Given the description of an element on the screen output the (x, y) to click on. 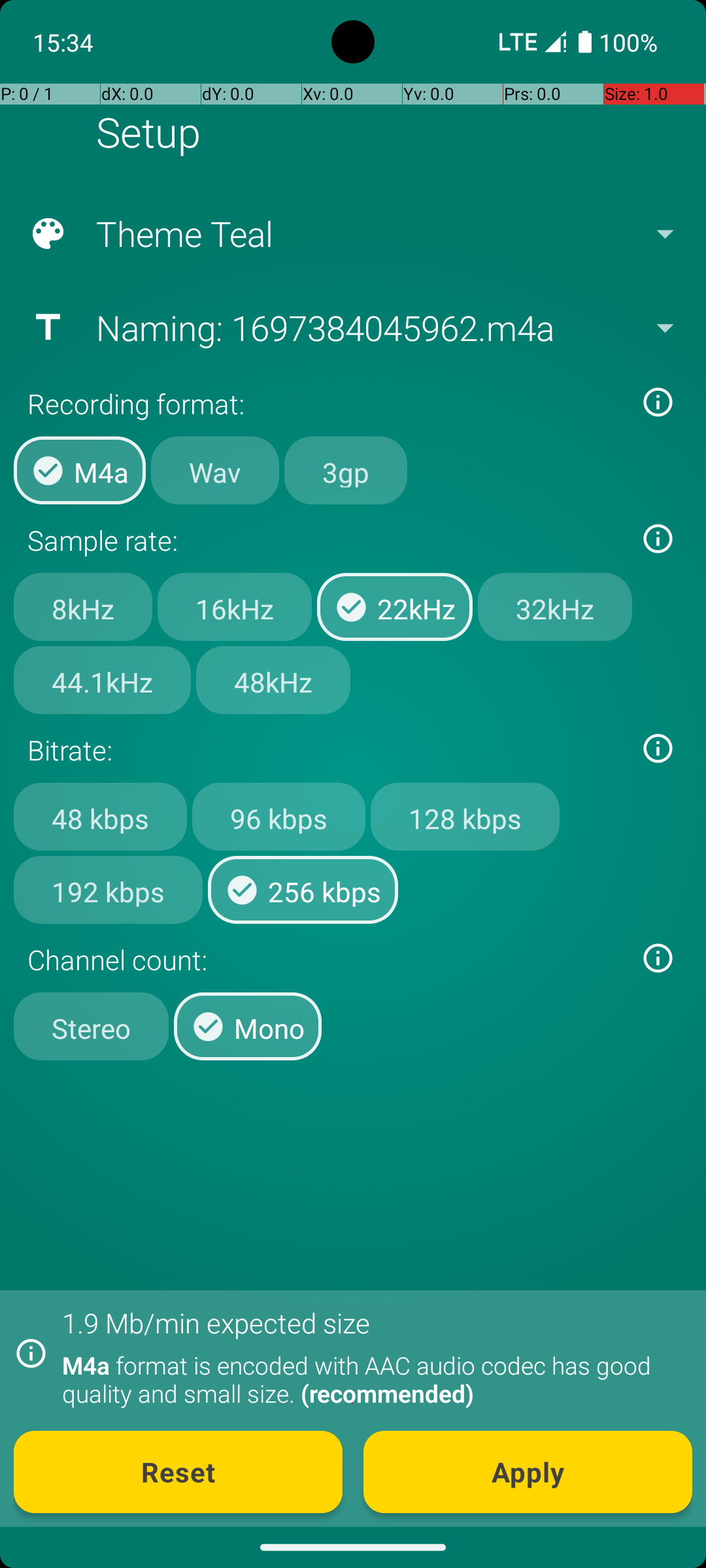
1.9 Mb/min expected size Element type: android.widget.TextView (215, 1322)
Theme Teal Element type: android.widget.TextView (352, 233)
Naming: 1697384045962.m4a Element type: android.widget.TextView (352, 327)
